Given the description of an element on the screen output the (x, y) to click on. 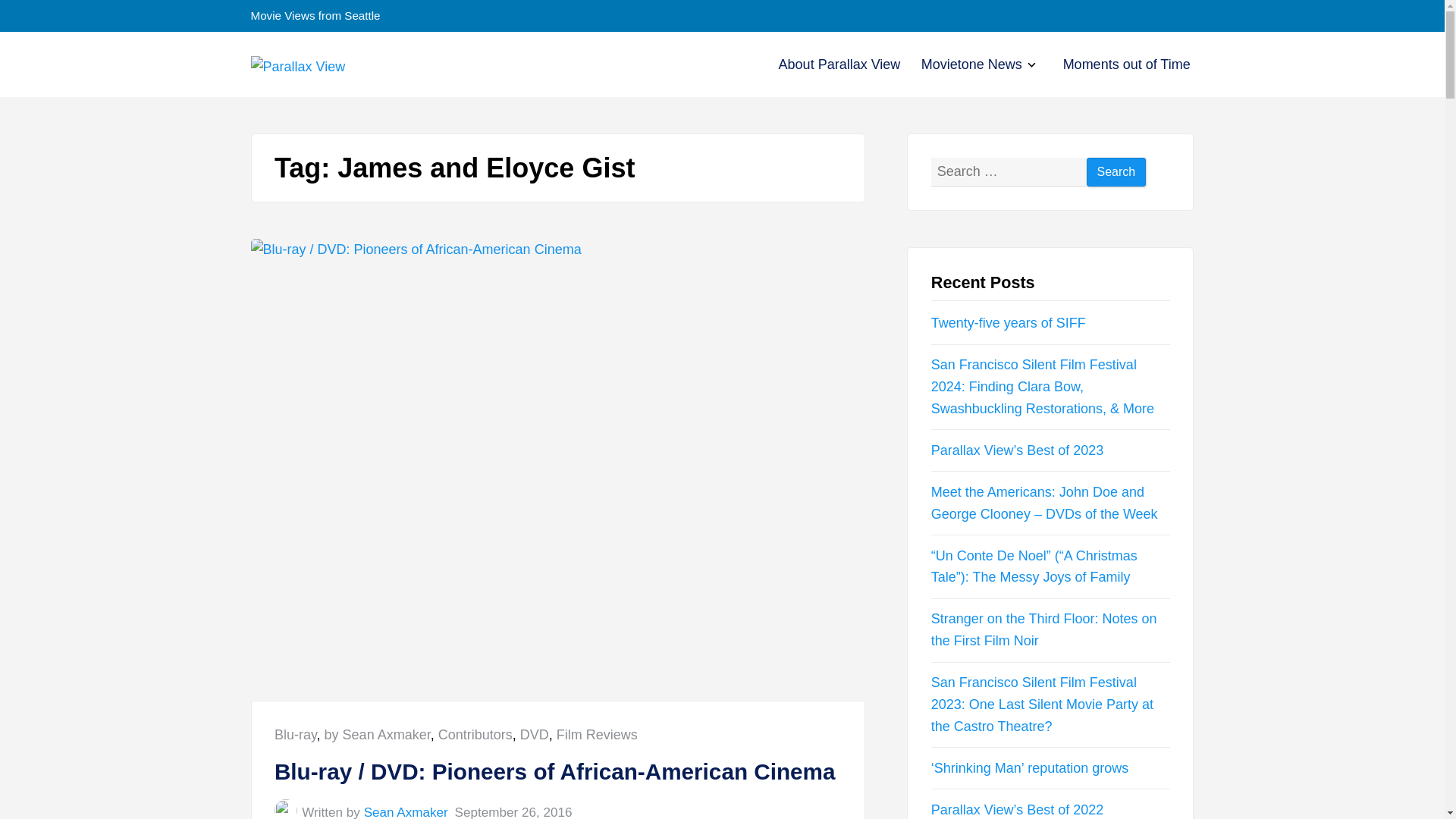
About Parallax View (839, 64)
by Sean Axmaker (377, 734)
Blu-ray (296, 734)
Search (1115, 172)
Movietone News (971, 64)
Stranger on the Third Floor: Notes on the First Film Noir (1044, 629)
Search (1115, 172)
DVD (533, 734)
Sean Axmaker (406, 812)
About Parallax View (839, 64)
